Given the description of an element on the screen output the (x, y) to click on. 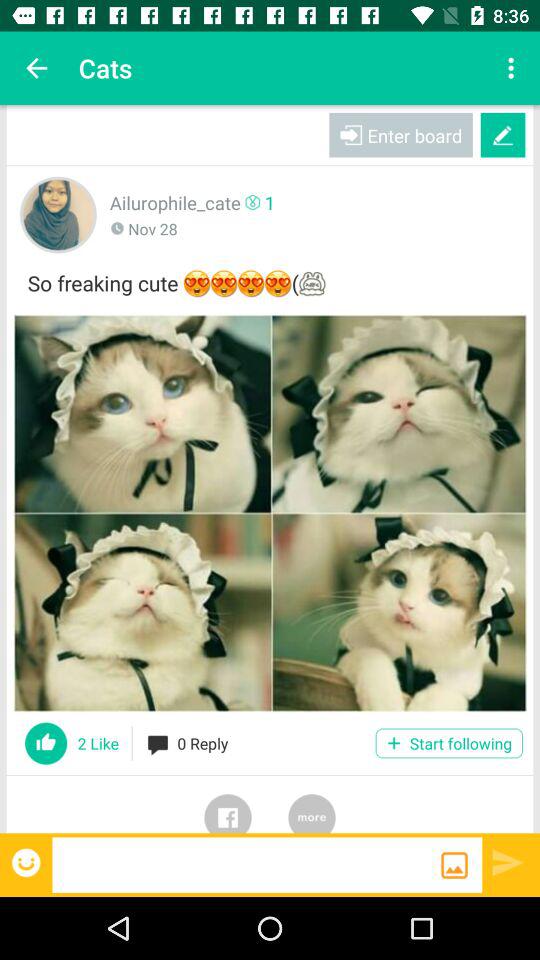
shared photo (269, 513)
